Given the description of an element on the screen output the (x, y) to click on. 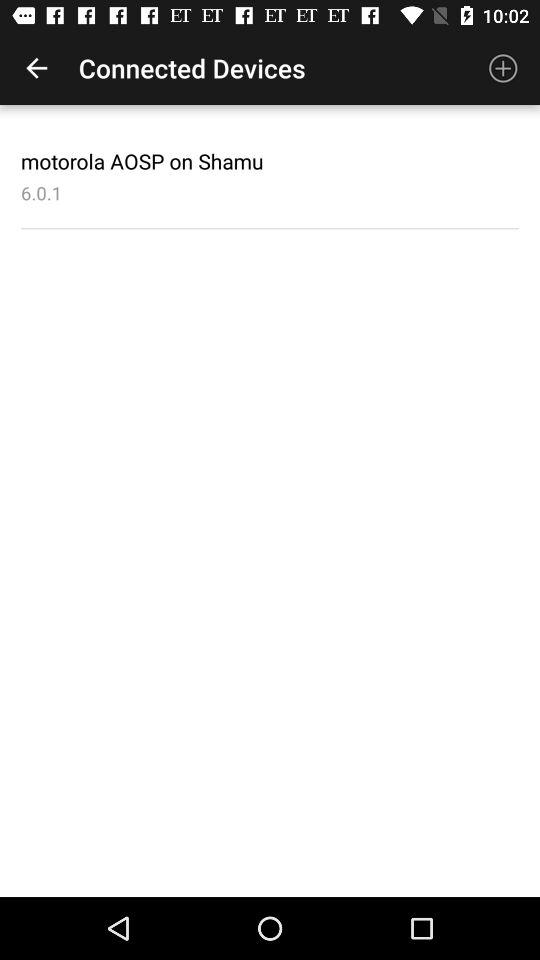
turn on the icon above the motorola aosp on icon (36, 68)
